Given the description of an element on the screen output the (x, y) to click on. 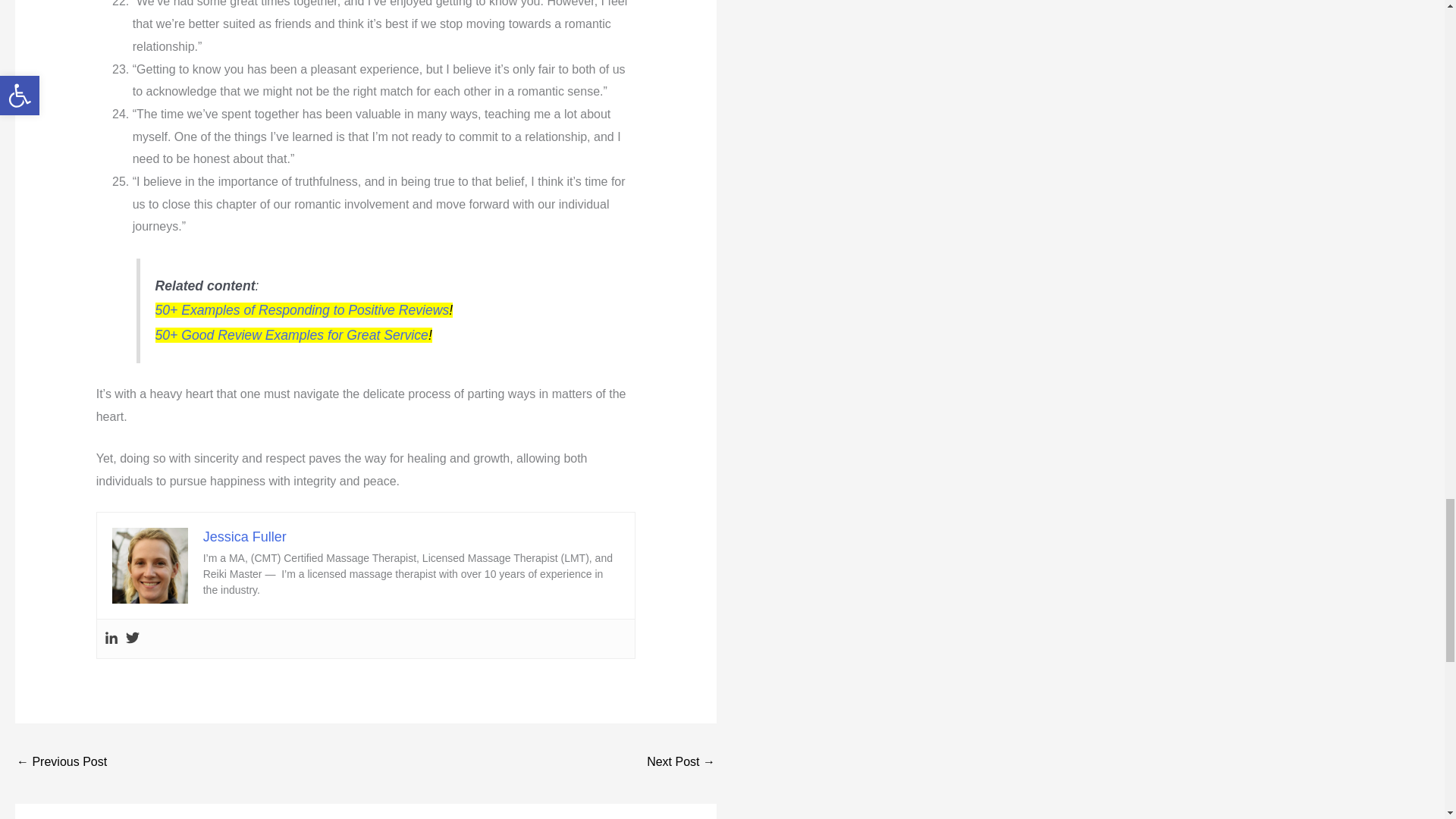
Jessica Fuller (244, 536)
